Given the description of an element on the screen output the (x, y) to click on. 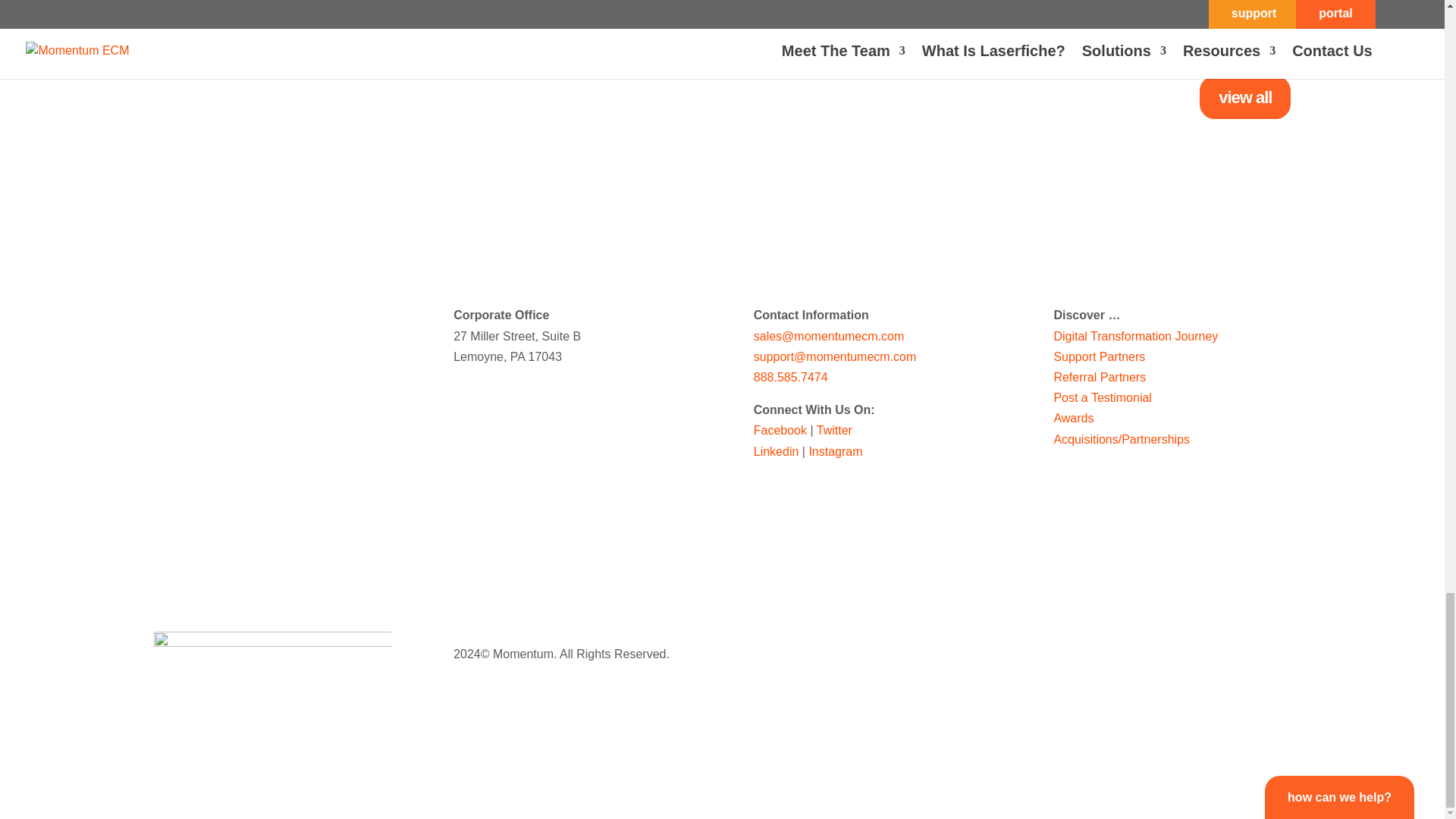
888.585.7474 (791, 377)
Twitter (833, 430)
Linkedin (776, 451)
Facebook (780, 430)
view all (1244, 97)
Costars-Laserfiche-Logos (271, 654)
Instagram (834, 451)
